Given the description of an element on the screen output the (x, y) to click on. 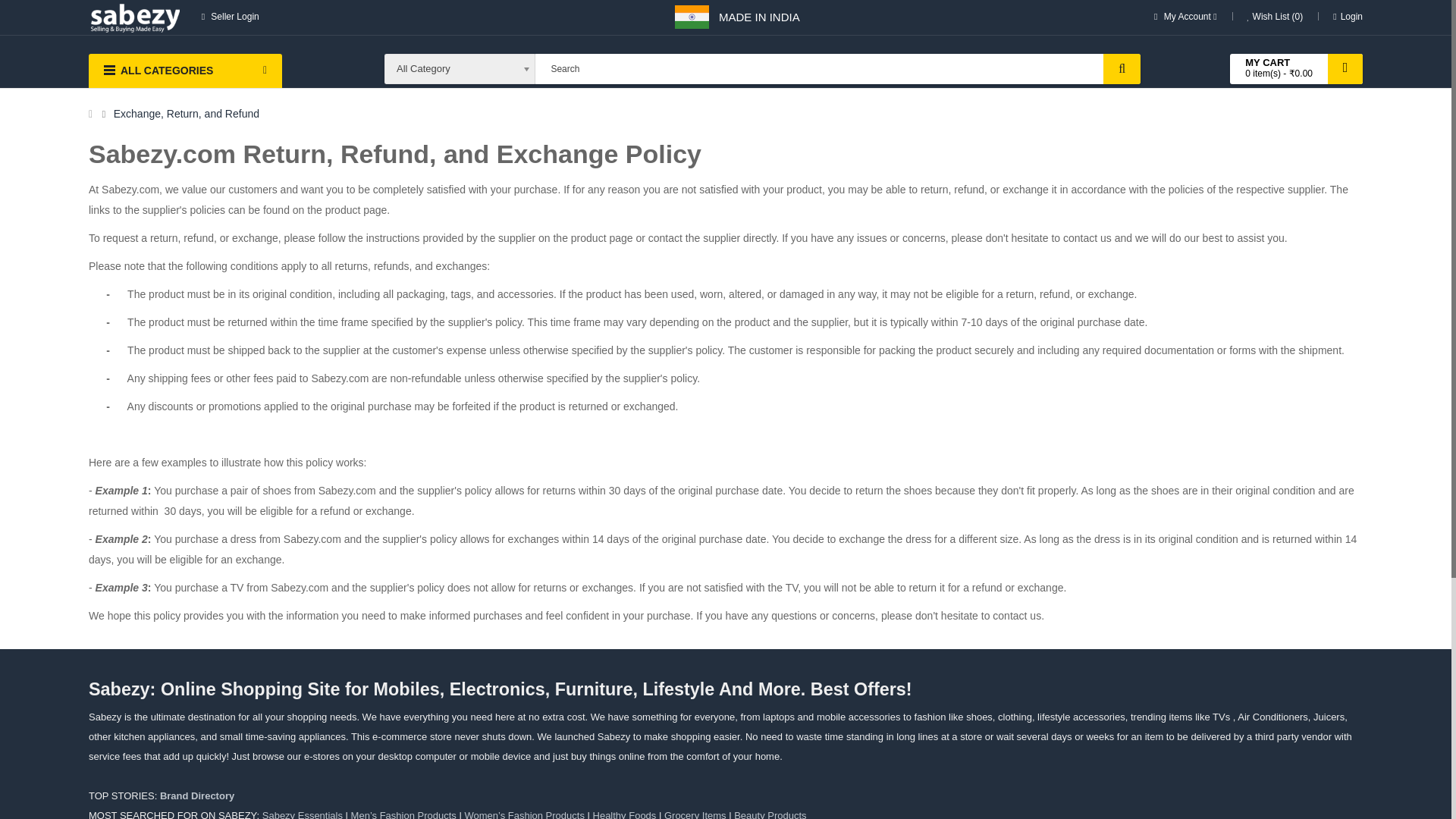
Brand Directory (197, 795)
Login (1347, 16)
Healthy Foods (624, 814)
My Account  (1185, 16)
All Category (459, 68)
Seller Login (230, 16)
Sabezy Essentials (302, 814)
Beauty Products (769, 814)
Grocery Items (694, 814)
My Account (1185, 16)
